Given the description of an element on the screen output the (x, y) to click on. 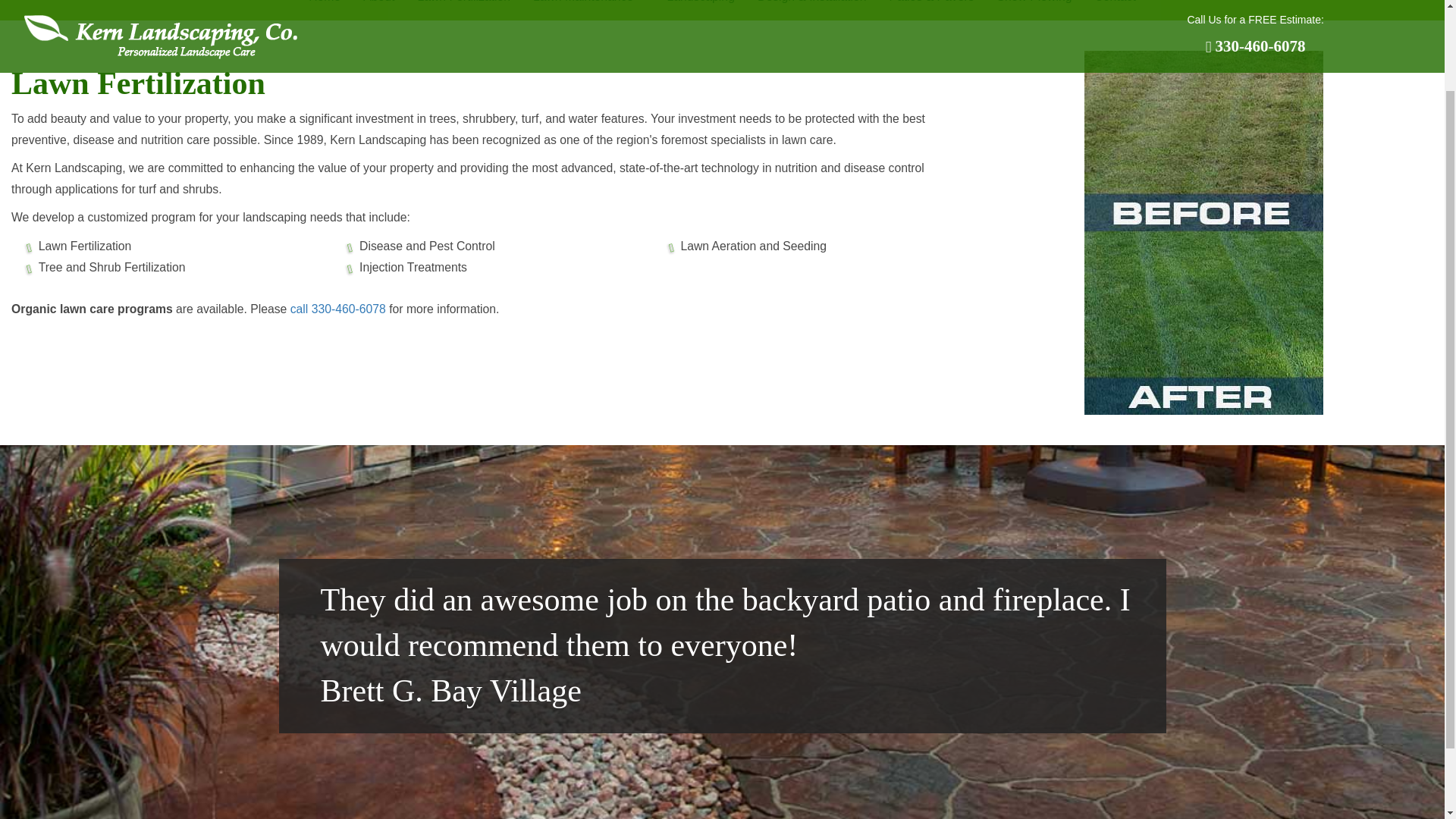
Contact (1115, 7)
Landscaping (700, 7)
Home (324, 7)
Snow Plowing (1034, 7)
call 330-460-6078 (337, 308)
Lawn Maintenance (588, 7)
About (379, 7)
Lawn Fertilization (463, 7)
